Given the description of an element on the screen output the (x, y) to click on. 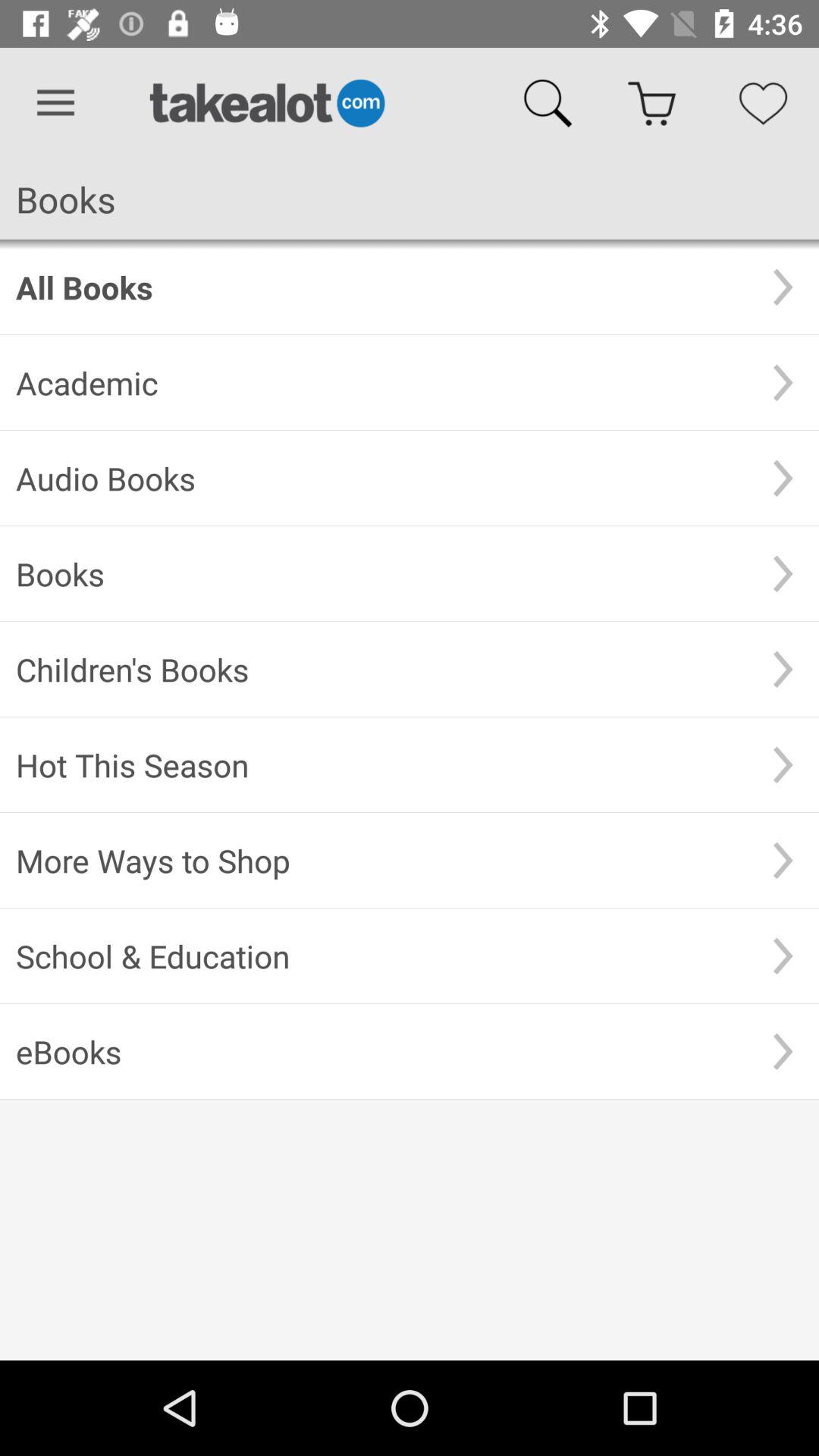
jump until more ways to item (381, 860)
